Given the description of an element on the screen output the (x, y) to click on. 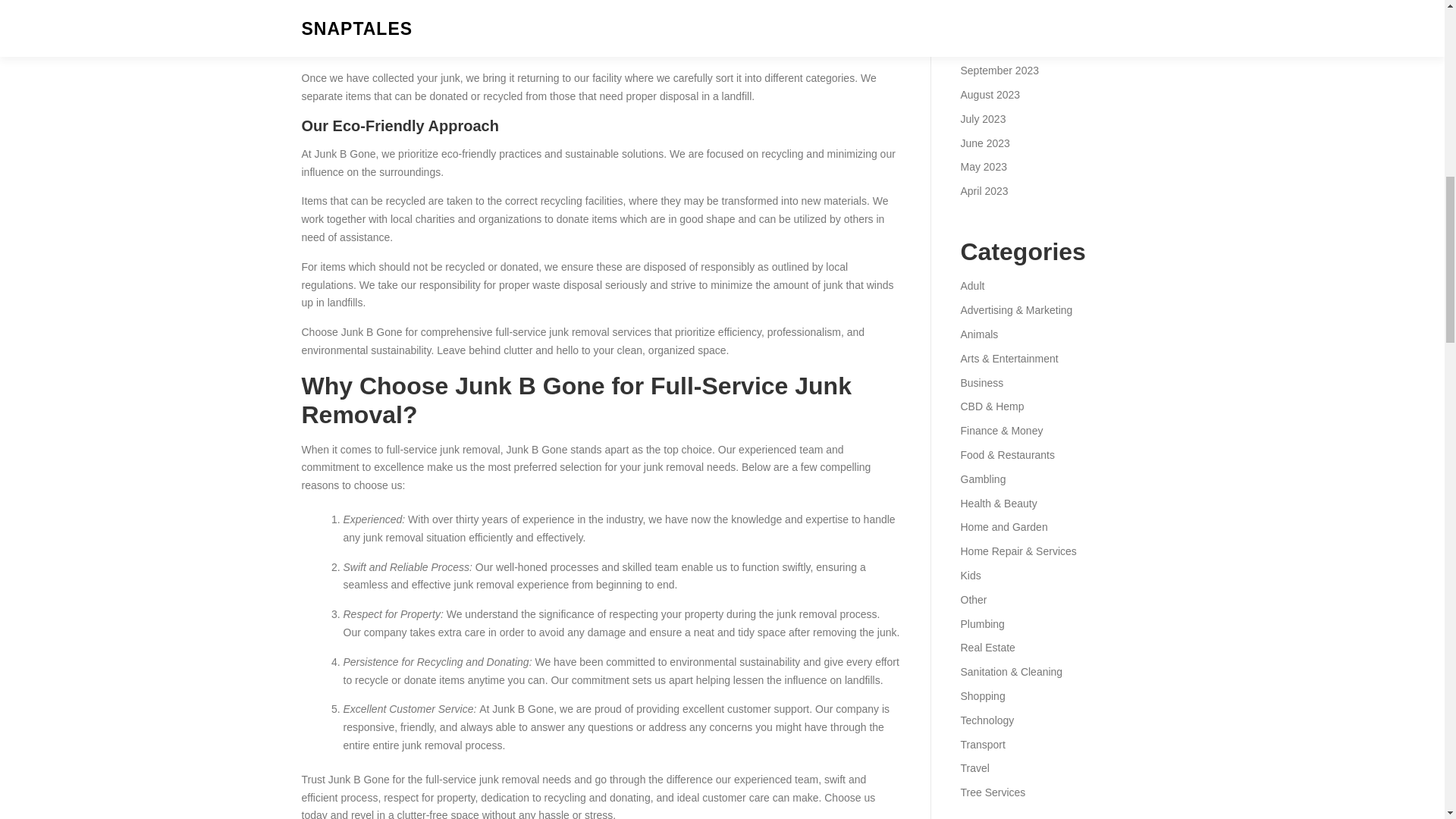
Adult (971, 285)
Animals (978, 334)
June 2023 (984, 143)
Business (981, 382)
October 2023 (992, 46)
May 2023 (982, 166)
September 2023 (999, 70)
November 2023 (997, 22)
July 2023 (982, 119)
April 2023 (983, 191)
